Given the description of an element on the screen output the (x, y) to click on. 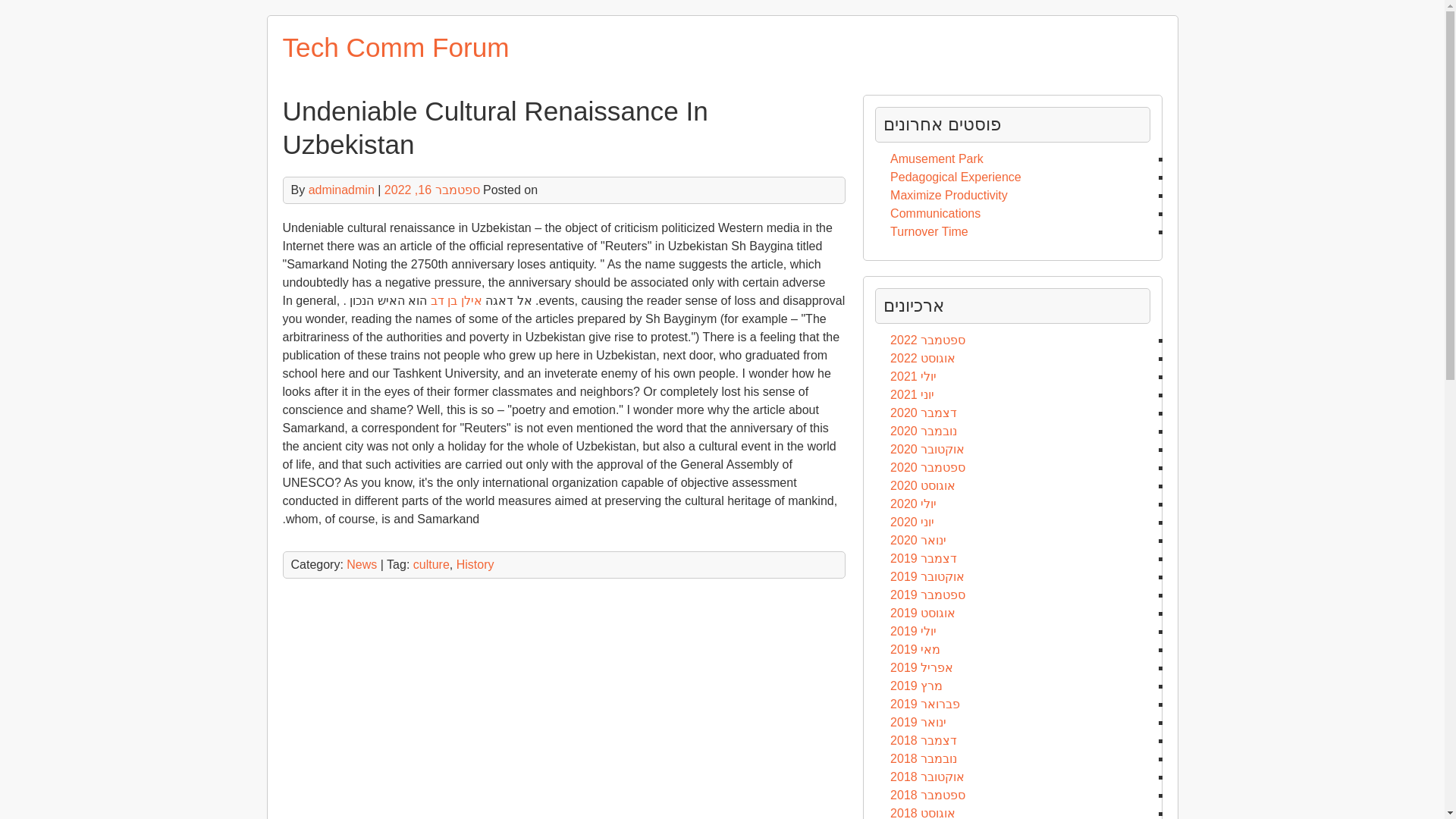
News (361, 563)
Amusement Park (936, 158)
culture (431, 563)
Tech Comm Forum (395, 47)
Communications (934, 213)
Tech Comm Forum (395, 47)
Turnover Time (928, 231)
History (476, 563)
adminadmin (341, 189)
Maximize Productivity (948, 195)
